Given the description of an element on the screen output the (x, y) to click on. 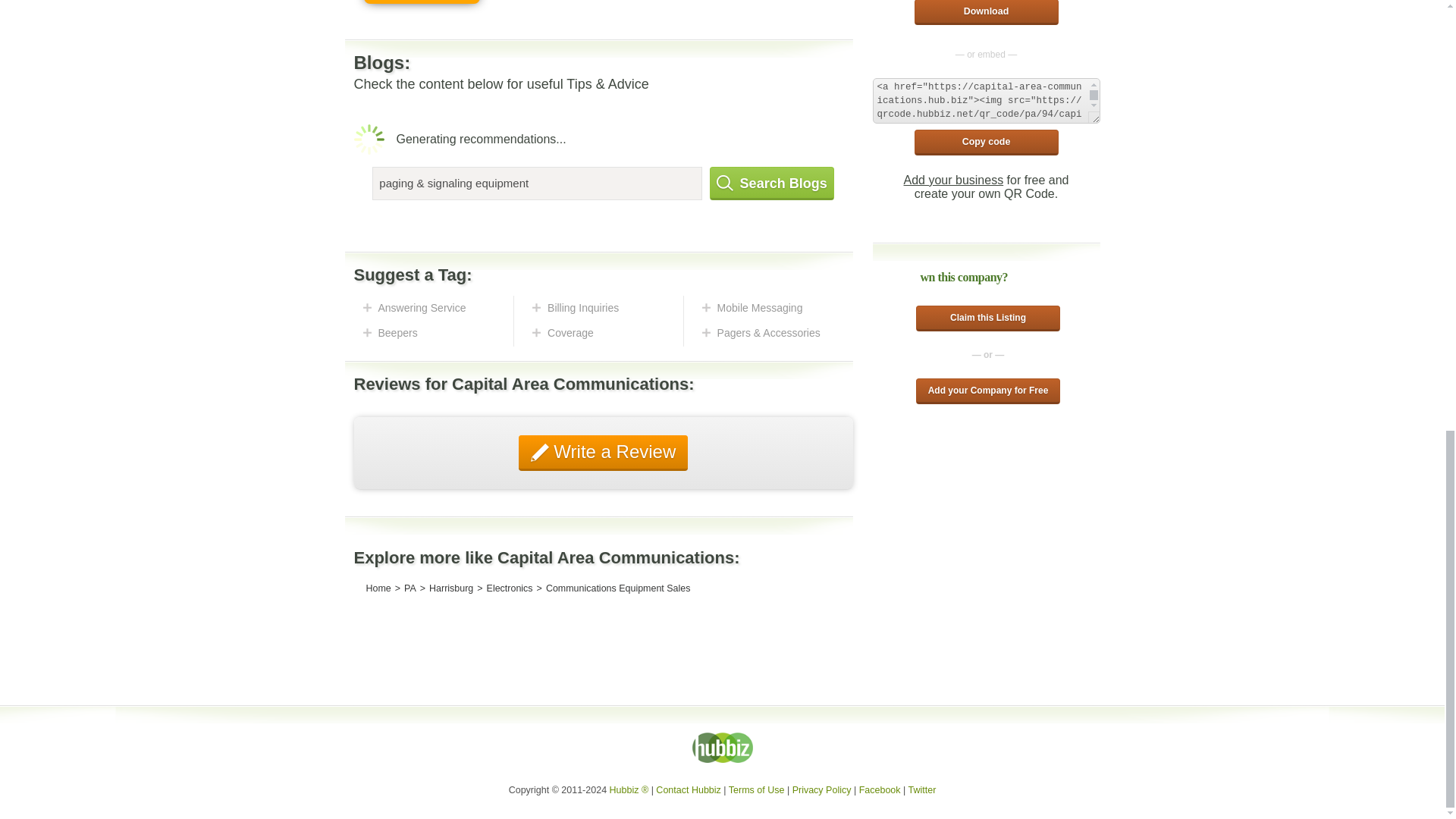
PA (410, 588)
Communications Equipment Sales (618, 588)
Electronics (509, 588)
Privacy Policy (821, 789)
Download (986, 12)
Terms of Use (756, 789)
Facebook (880, 789)
Contact Hubbiz (688, 789)
Home (377, 588)
Write a Review (603, 452)
